Given the description of an element on the screen output the (x, y) to click on. 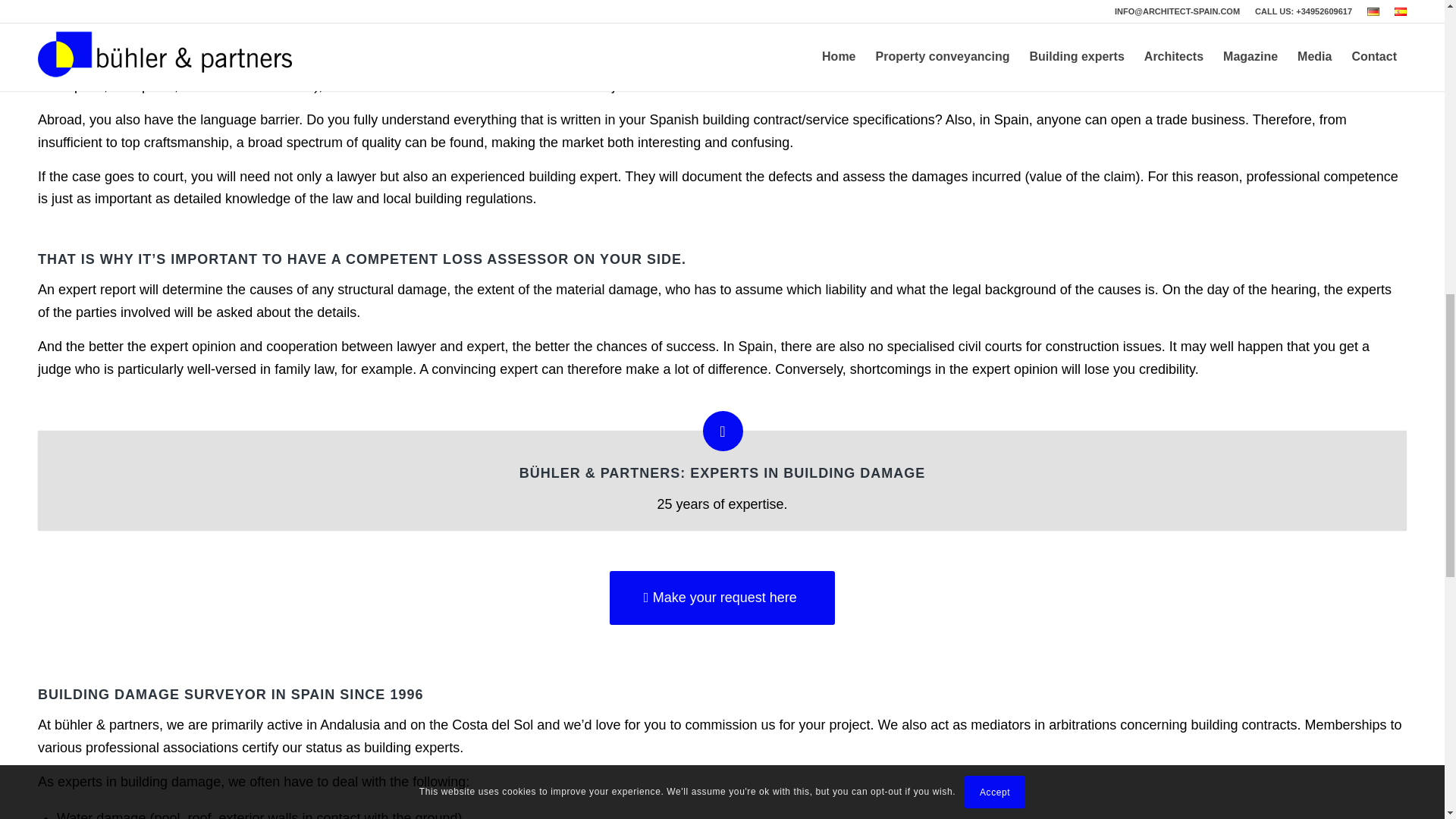
Make your request here (722, 597)
